Given the description of an element on the screen output the (x, y) to click on. 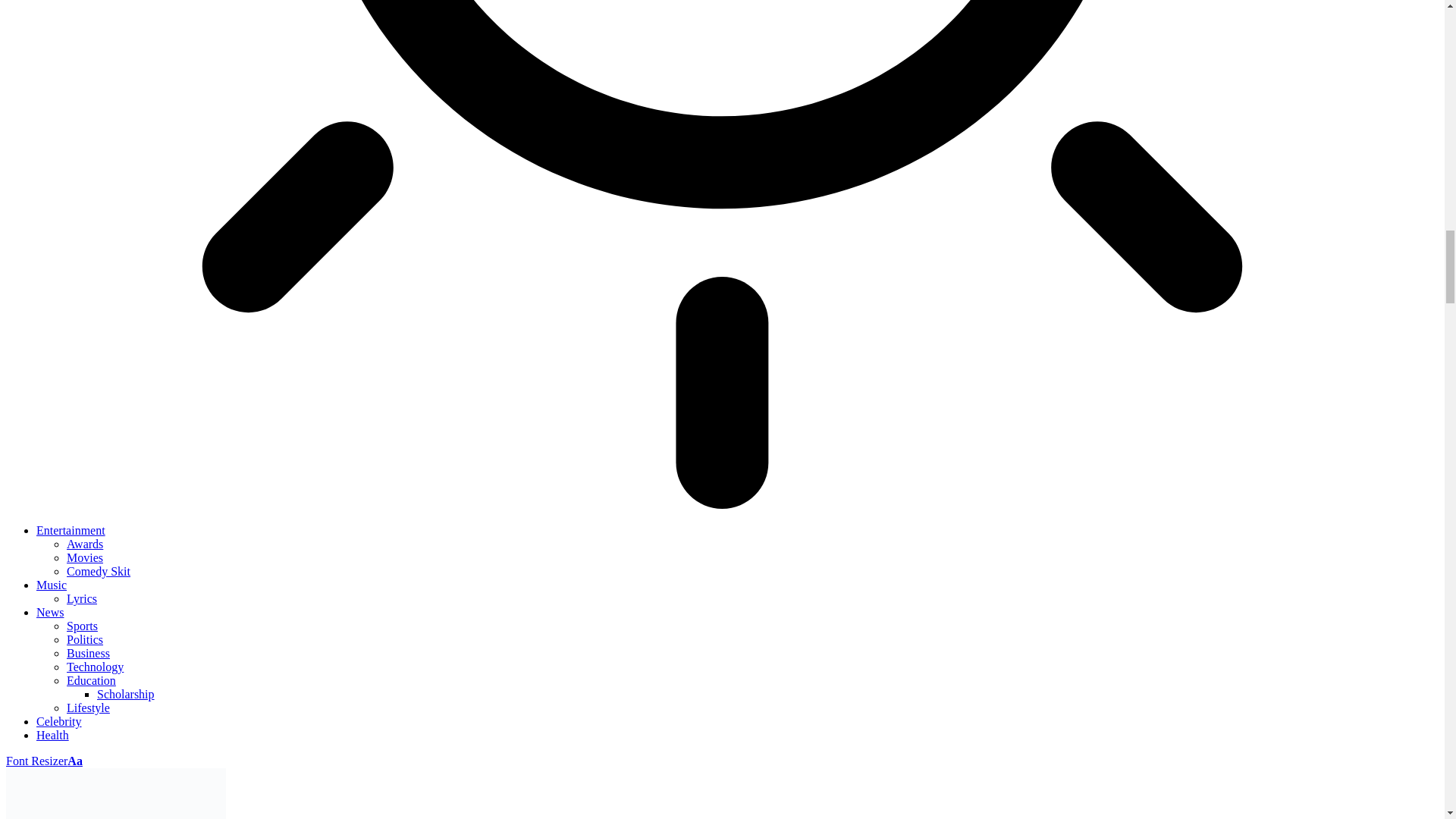
Movies (84, 557)
Comedy Skit (98, 571)
Music (51, 584)
Lifestyle (88, 707)
Health (52, 735)
Font ResizerAa (43, 760)
News (50, 612)
Scholarship (125, 694)
Entertainment (70, 530)
Awards (84, 543)
Lyrics (81, 598)
Celebrity (58, 721)
Politics (84, 639)
Sports (81, 625)
Education (91, 680)
